Given the description of an element on the screen output the (x, y) to click on. 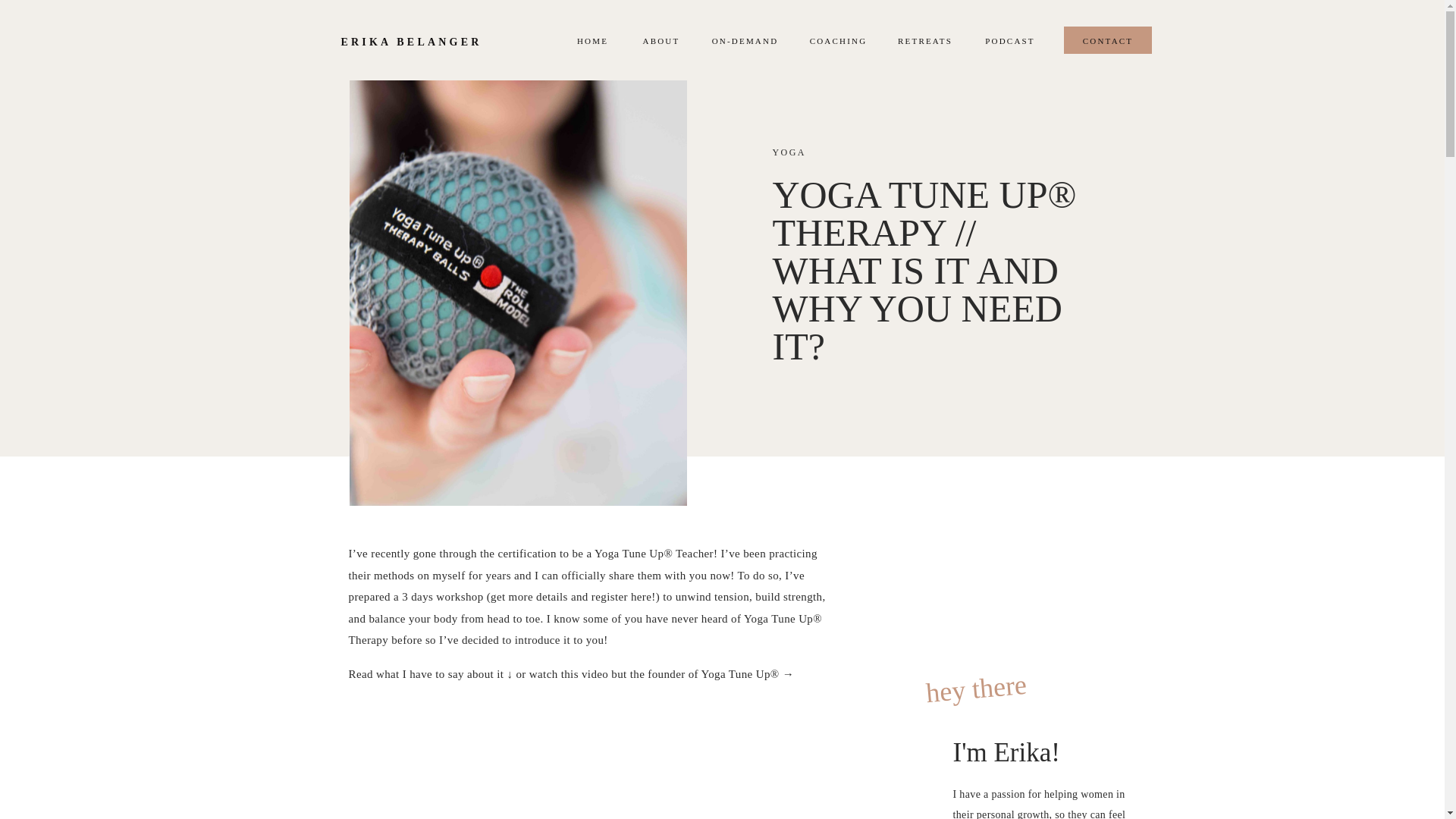
RETREATS (924, 40)
ABOUT (661, 40)
HOME (592, 40)
COACHING (837, 40)
ERIKA BELANGER (421, 42)
PODCAST (1009, 40)
CONTACT (1108, 40)
ON-DEMAND (745, 40)
